Given the description of an element on the screen output the (x, y) to click on. 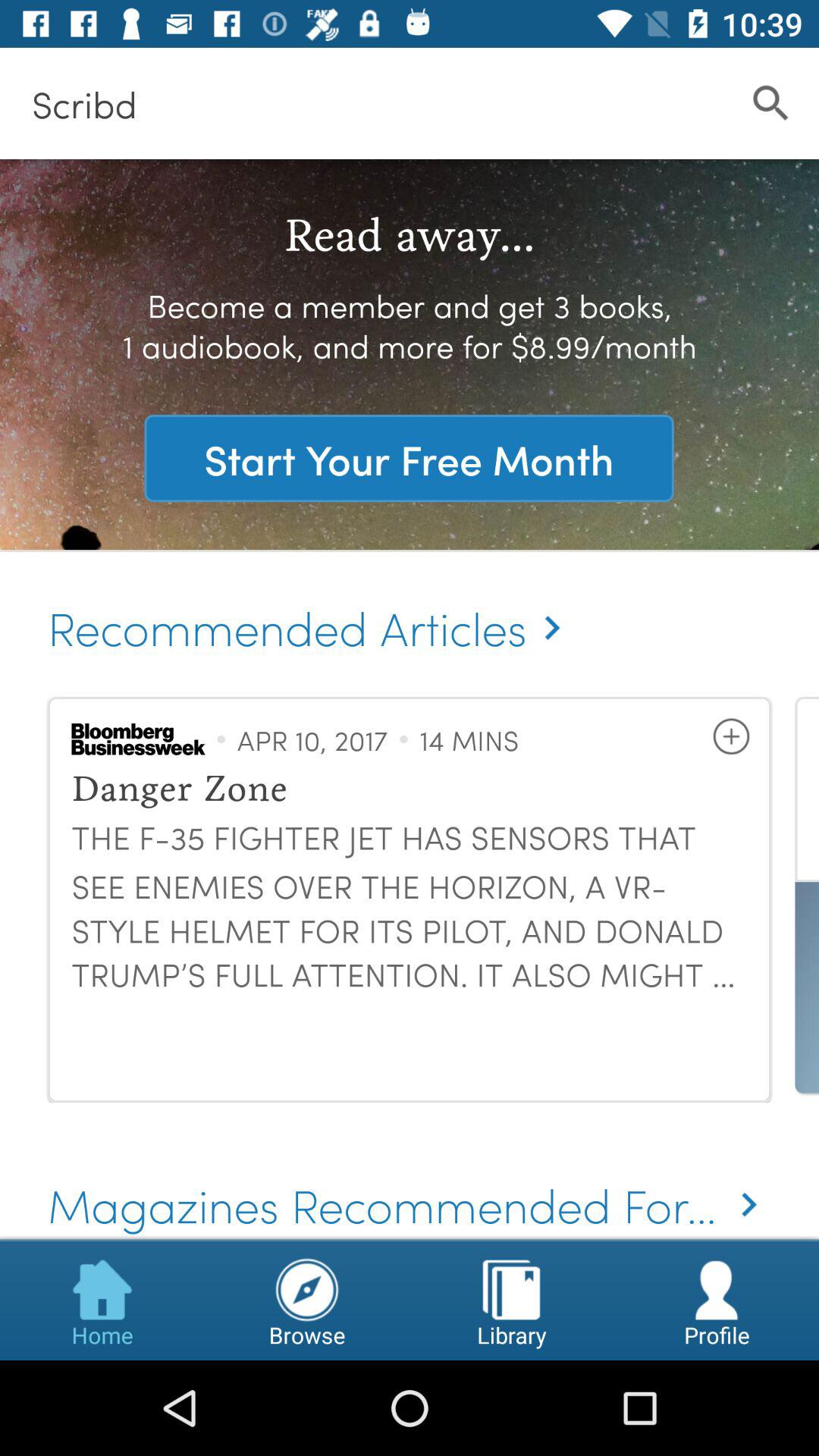
turn on the item next to 14 mins icon (731, 736)
